Given the description of an element on the screen output the (x, y) to click on. 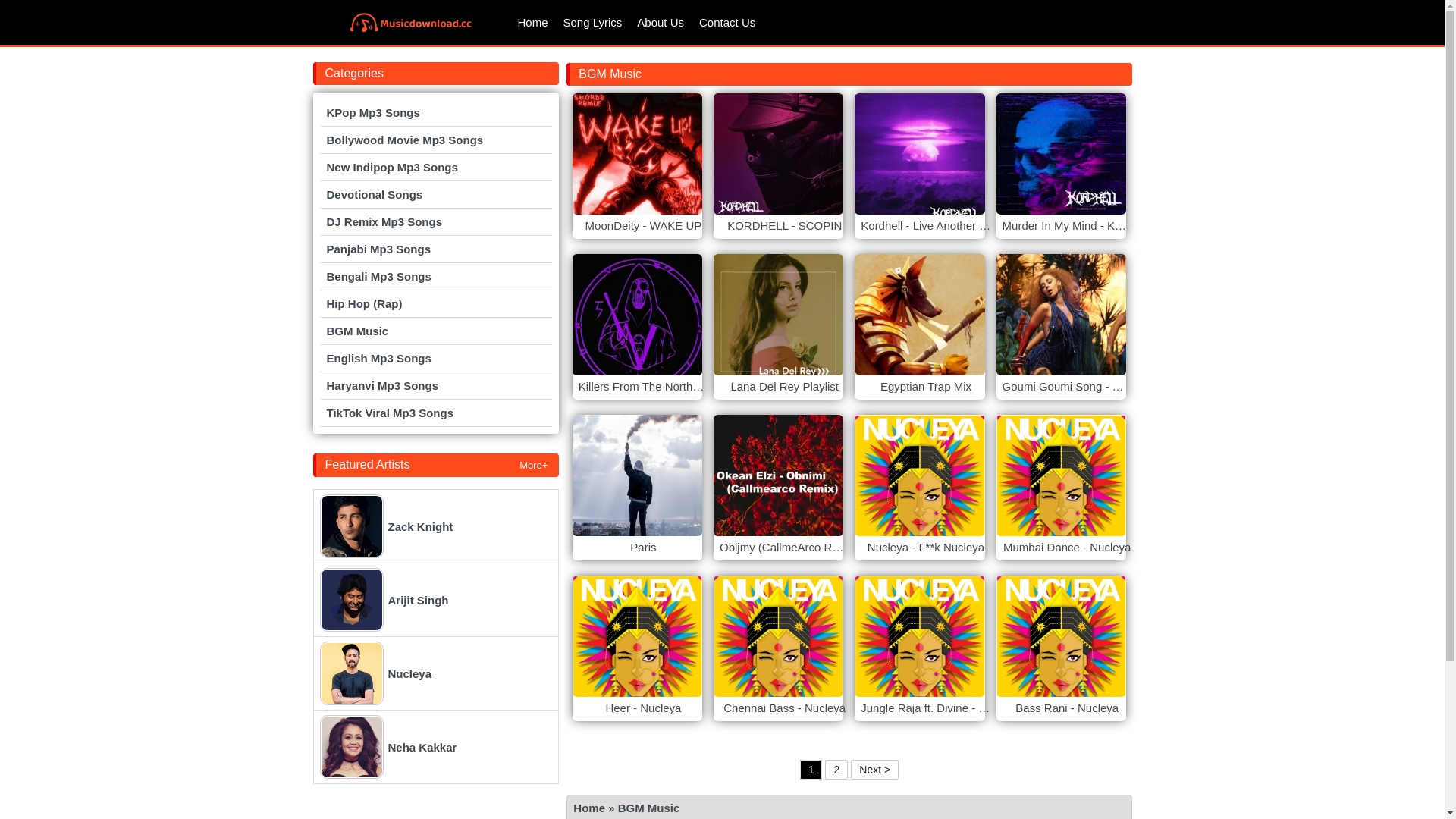
KPop Mp3 Songs Element type: text (436, 112)
New Indipop Mp3 Songs Element type: text (436, 166)
Contact Us Element type: text (726, 22)
More+ Element type: text (533, 465)
Home Element type: text (589, 807)
Musicdownload.cc Element type: text (410, 22)
Haryanvi Mp3 Songs Element type: text (436, 385)
Hip Hop (Rap) Element type: text (436, 303)
English Mp3 Songs Element type: text (436, 358)
2 Element type: text (836, 769)
Nucleya Element type: text (436, 673)
About Us Element type: text (660, 22)
Bollywood Movie Mp3 Songs Element type: text (436, 139)
DJ Remix Mp3 Songs Element type: text (436, 221)
Next > Element type: text (874, 769)
Panjabi Mp3 Songs Element type: text (436, 248)
Zack Knight Element type: text (436, 526)
Devotional Songs Element type: text (436, 194)
Song Lyrics Element type: text (592, 22)
TikTok Viral Mp3 Songs Element type: text (436, 412)
Neha Kakkar Element type: text (436, 746)
Home Element type: text (532, 22)
Bengali Mp3 Songs Element type: text (436, 276)
BGM Music Element type: text (649, 807)
BGM Music Element type: text (436, 330)
Arijit Singh Element type: text (436, 599)
